Given the description of an element on the screen output the (x, y) to click on. 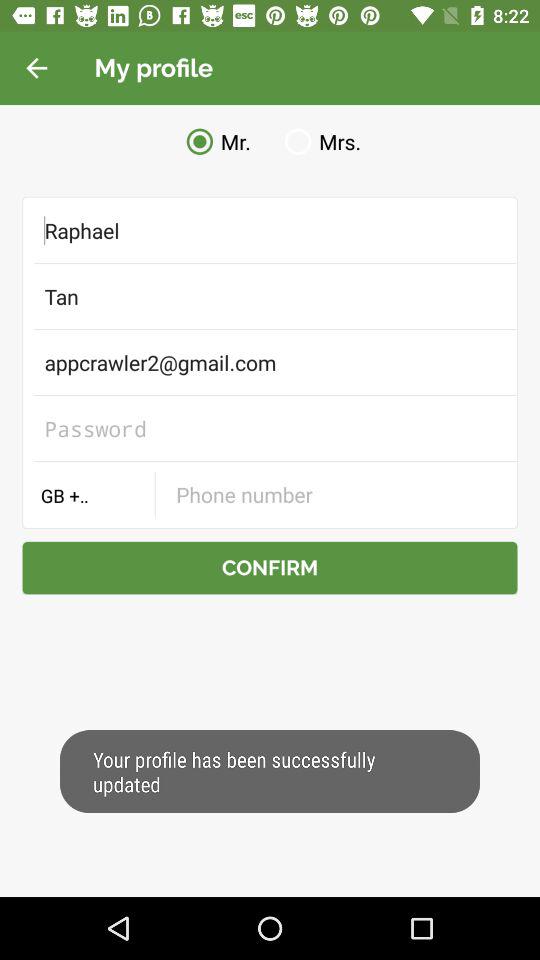
enter phone number box (335, 494)
